Given the description of an element on the screen output the (x, y) to click on. 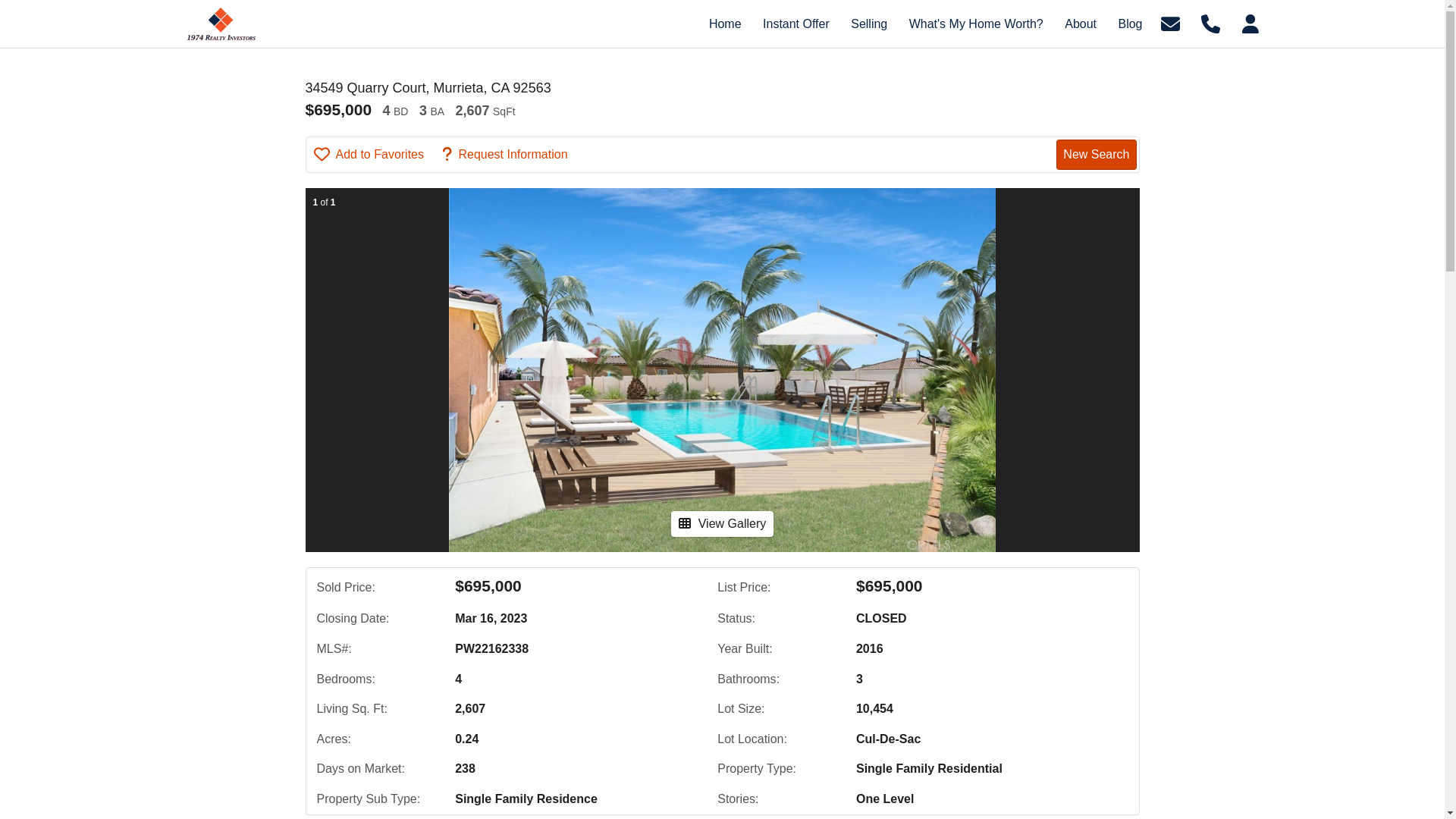
View Gallery Element type: text (722, 523)
Blog Element type: text (1129, 23)
Open contact form Element type: hover (1170, 22)
What's My Home Worth? Element type: text (976, 23)
Add to Favorites Element type: text (376, 154)
Request Information Element type: text (512, 154)
Home Element type: text (725, 23)
Contact by Phone Element type: hover (1210, 22)
View Gallery Element type: text (722, 523)
New Search Element type: text (1095, 154)
Login or Signup Element type: hover (1250, 22)
About Element type: text (1080, 23)
Selling Element type: text (868, 23)
Instant Offer Element type: text (795, 23)
